Given the description of an element on the screen output the (x, y) to click on. 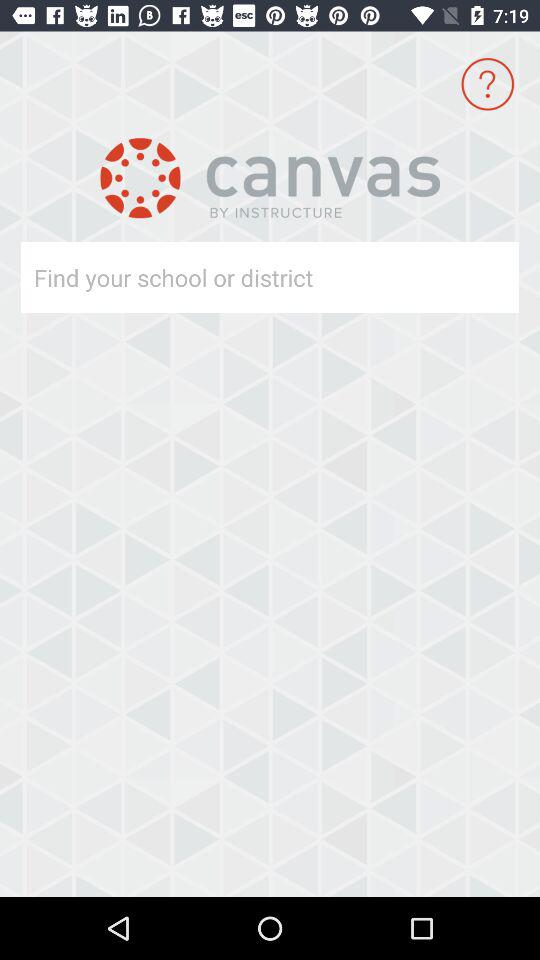
search (234, 277)
